Given the description of an element on the screen output the (x, y) to click on. 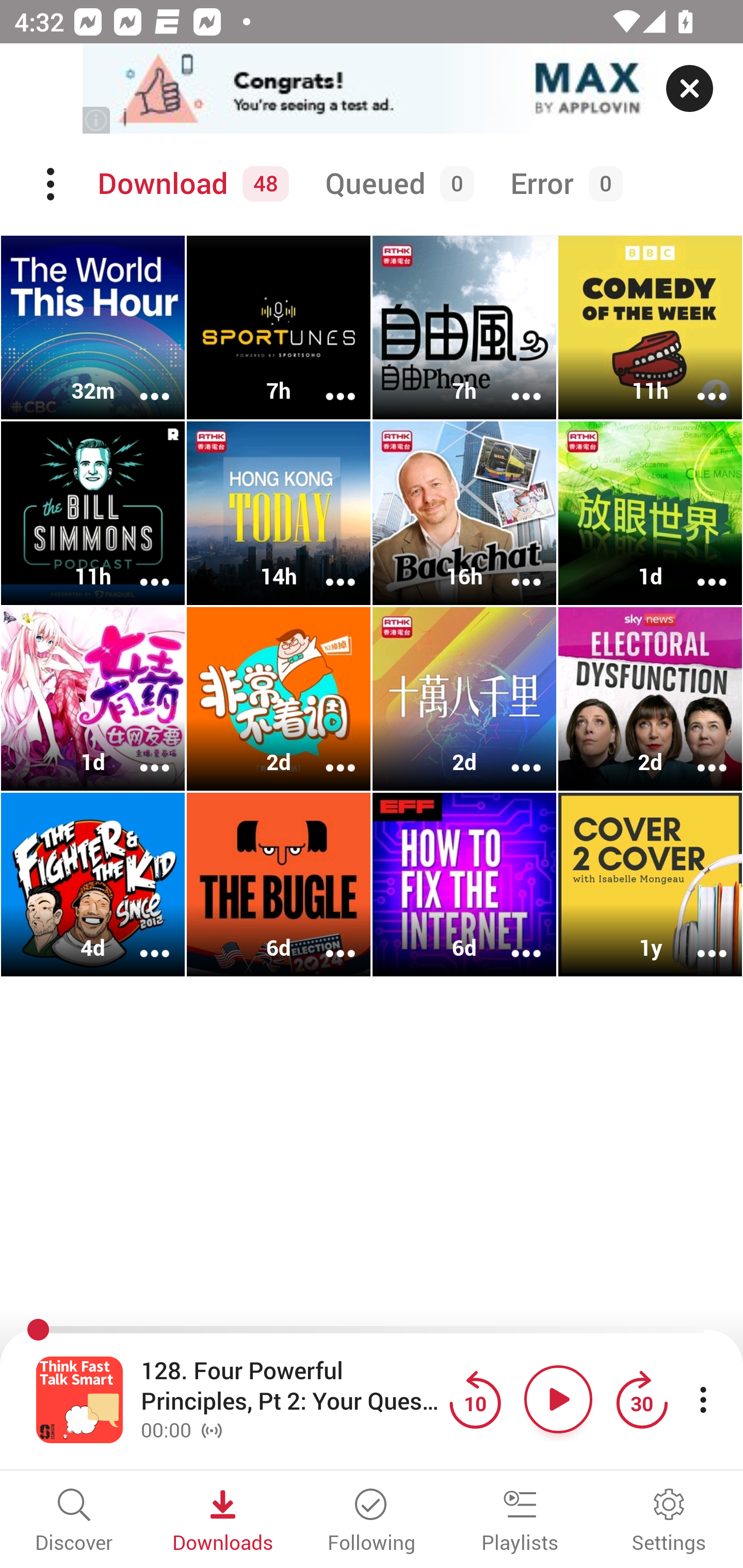
app-monetization (371, 88)
(i) (96, 119)
Menu (52, 184)
 Download 48 (189, 184)
 Queued 0 (396, 184)
 Error 0 (562, 184)
The World This Hour 32m More options More options (92, 327)
Sportunes HK 7h More options More options (278, 327)
自由风自由PHONE 7h More options More options (464, 327)
Comedy of the Week 11h More options More options (650, 327)
More options (141, 382)
More options (326, 382)
More options (512, 382)
More options (698, 382)
Hong Kong Today 14h More options More options (278, 513)
Backchat 16h More options More options (464, 513)
放眼世界 1d More options More options (650, 513)
More options (141, 569)
More options (326, 569)
More options (512, 569)
More options (698, 569)
女王有药丨爆笑脱口秀 1d More options More options (92, 698)
非常不着调 2d More options More options (278, 698)
十萬八千里 2d More options More options (464, 698)
Electoral Dysfunction 2d More options More options (650, 698)
More options (141, 754)
More options (326, 754)
More options (512, 754)
More options (698, 754)
The Fighter & The Kid 4d More options More options (92, 883)
The Bugle 6d More options More options (278, 883)
Cover 2 Cover 1y More options More options (650, 883)
More options (141, 940)
More options (326, 940)
More options (512, 940)
More options (698, 940)
Open fullscreen player (79, 1399)
More player controls (703, 1399)
Play button (558, 1398)
Jump back (475, 1399)
Jump forward (641, 1399)
Discover (74, 1521)
Downloads (222, 1521)
Following (371, 1521)
Playlists (519, 1521)
Settings (668, 1521)
